Given the description of an element on the screen output the (x, y) to click on. 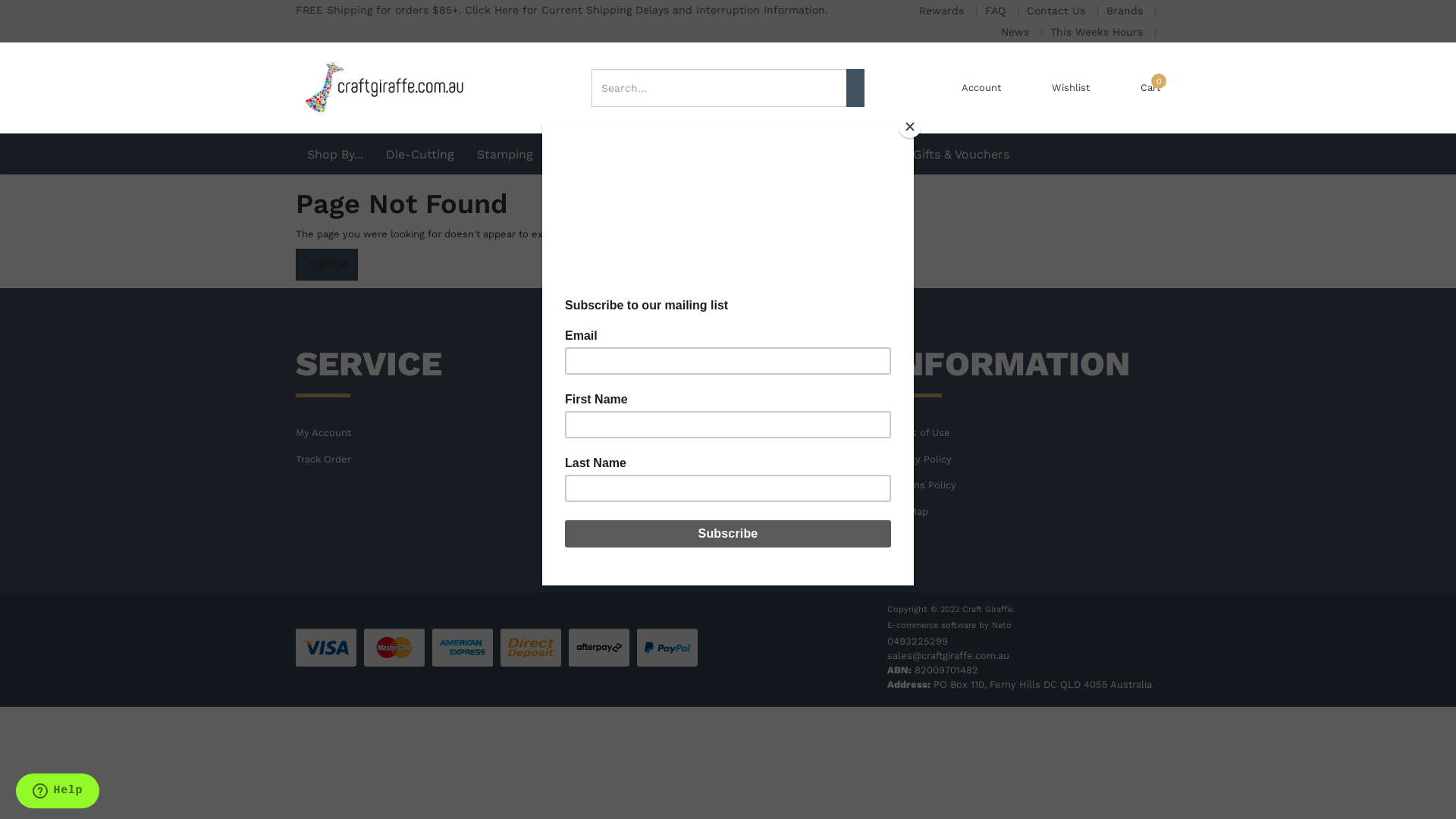
Wishlist Element type: text (1070, 88)
E-commerce software by Neto Element type: text (949, 625)
Track Order Element type: text (431, 459)
Supplies Element type: text (864, 153)
Our Brands Element type: text (727, 485)
Shop By... Element type: text (334, 153)
Tools Element type: text (801, 153)
Hot Foiling Element type: text (674, 153)
sales@craftgiraffe.com.au Element type: text (948, 655)
About Us Element type: text (727, 433)
Privacy Policy Element type: text (1023, 459)
0493225299 Element type: text (917, 640)
Craft Giraffe Element type: hover (382, 86)
0
Cart Element type: text (1150, 88)
FAQ Element type: text (997, 10)
Opens a widget where you can chat to one of our agents Element type: hover (57, 792)
Paper Element type: text (746, 153)
Brands Element type: text (1126, 10)
My Account Element type: text (431, 433)
News Element type: text (1016, 31)
Embossing Element type: text (587, 153)
Contact Us Element type: text (1057, 10)
Site Map Element type: text (1023, 511)
Terms of Use Element type: text (1023, 433)
Stamping Element type: text (504, 153)
This Weeks Hours Element type: text (1098, 31)
Search Element type: text (855, 87)
Account Element type: text (981, 88)
Home Element type: text (326, 263)
Die-Cutting Element type: text (419, 153)
Gifts & Vouchers Element type: text (960, 153)
Returns Policy Element type: text (1023, 485)
Rewards Element type: text (943, 10)
Contact Us Element type: text (727, 459)
